Given the description of an element on the screen output the (x, y) to click on. 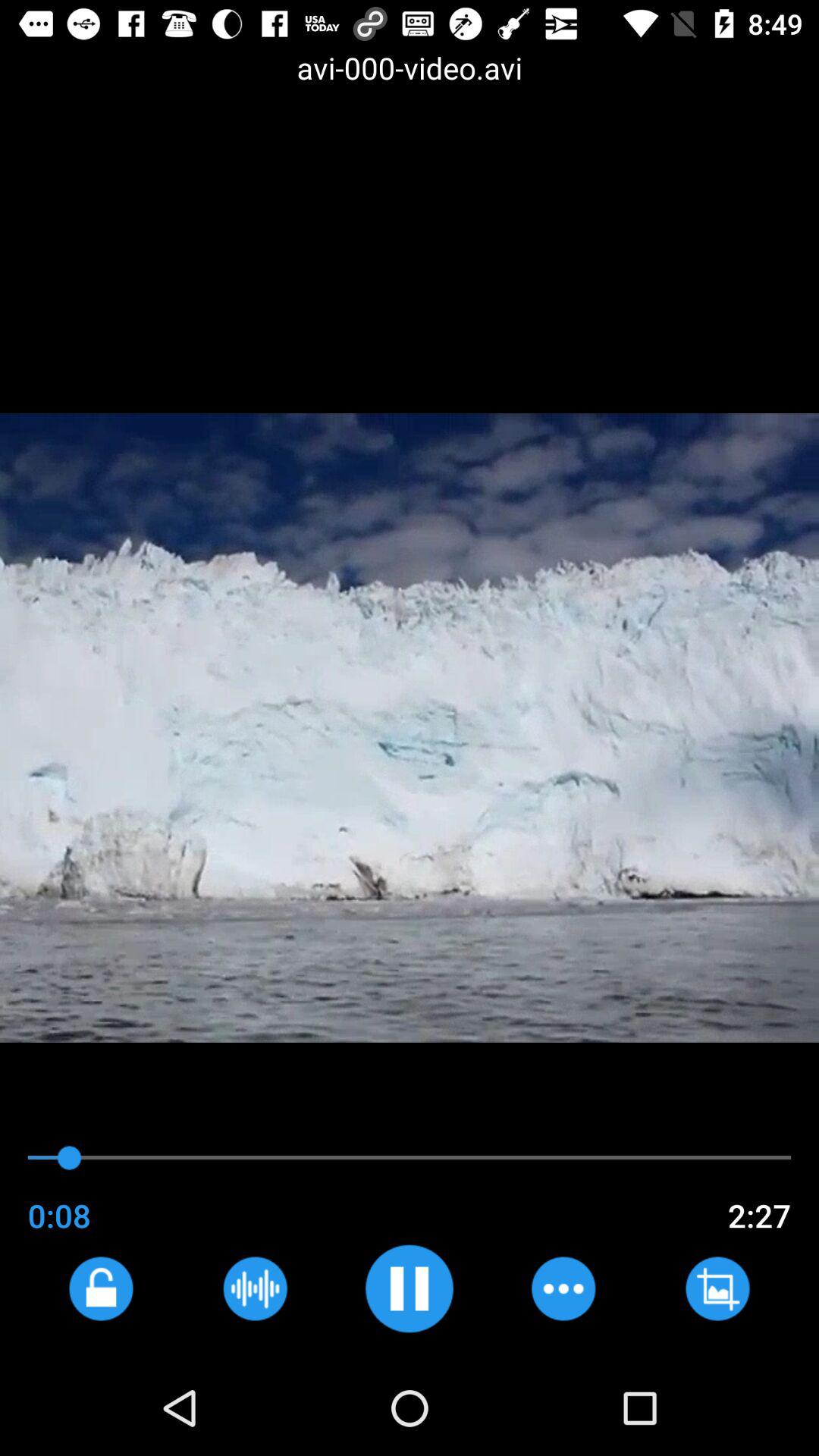
crop button (717, 1288)
